Given the description of an element on the screen output the (x, y) to click on. 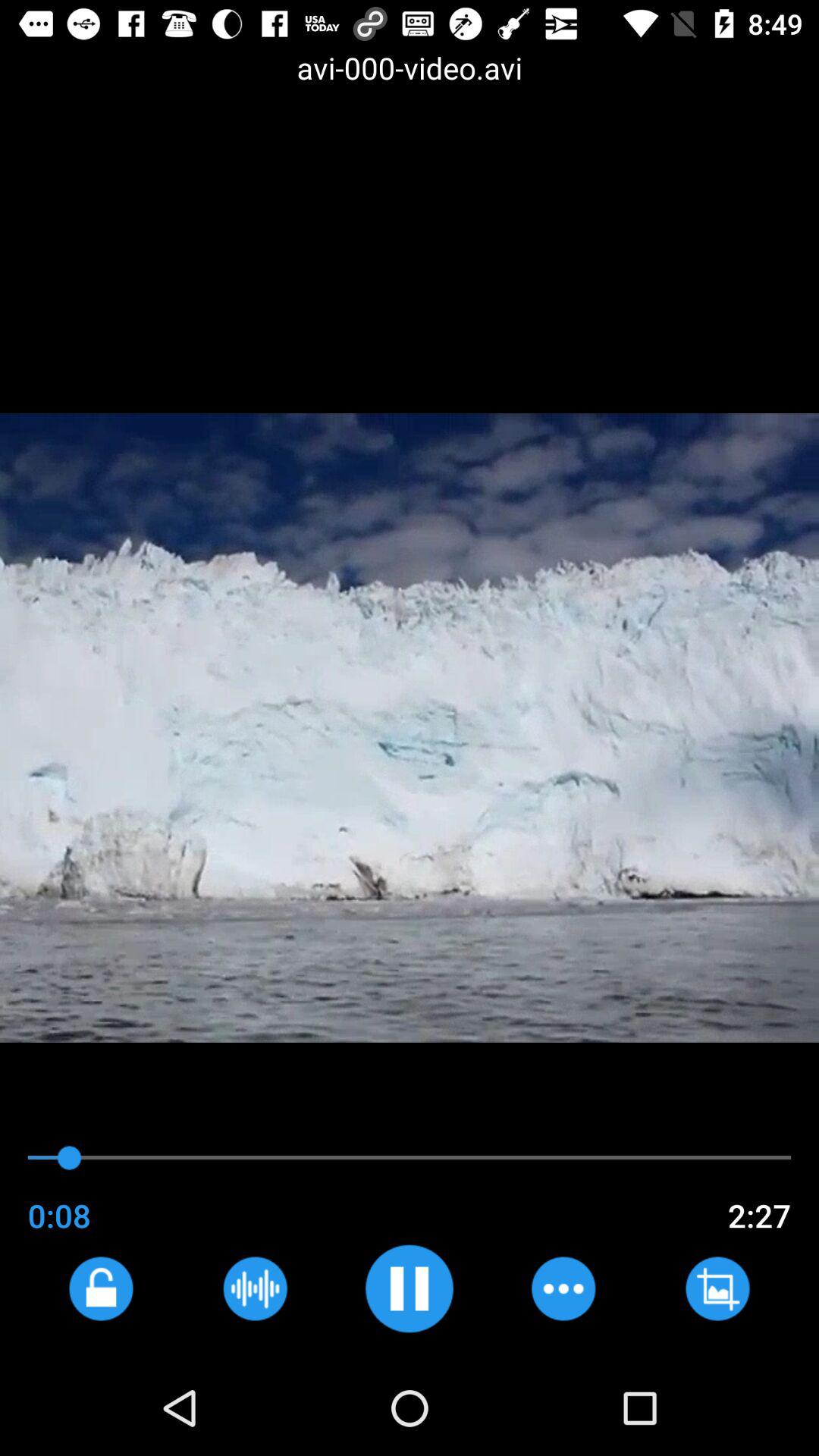
crop button (717, 1288)
